Given the description of an element on the screen output the (x, y) to click on. 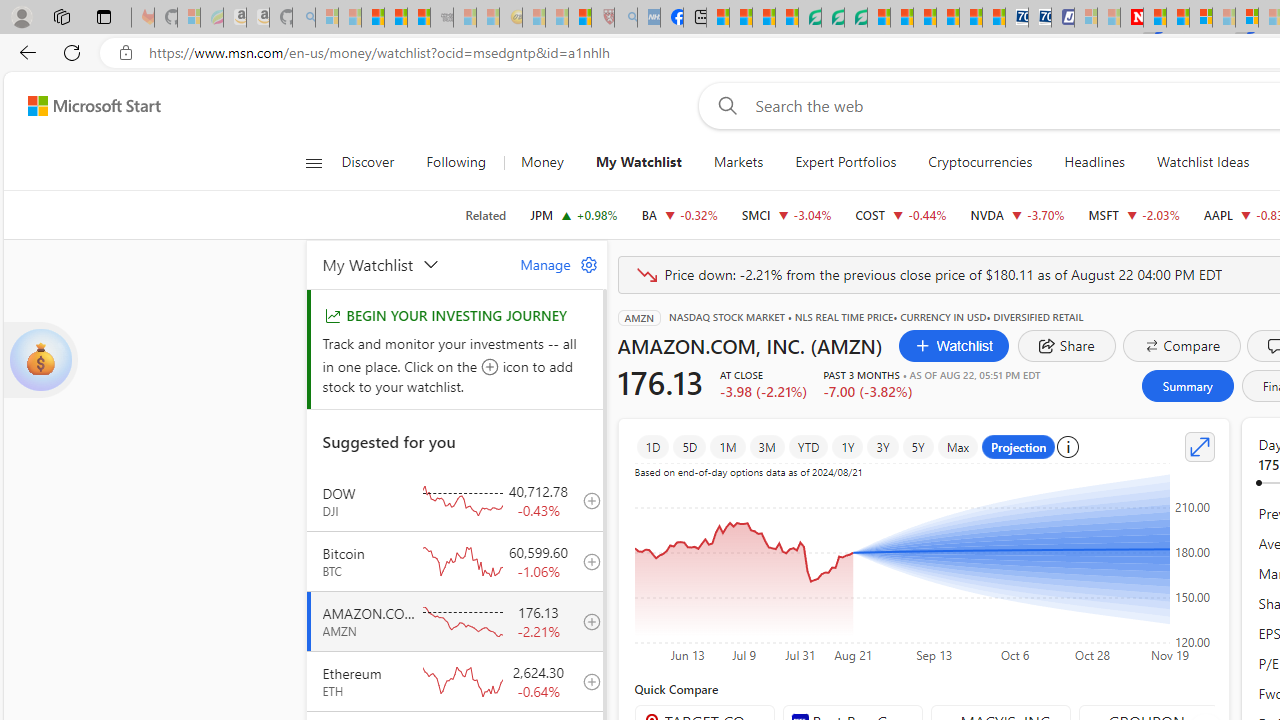
Markets (738, 162)
My Watchlist (409, 264)
My Watchlist (638, 162)
